Given the description of an element on the screen output the (x, y) to click on. 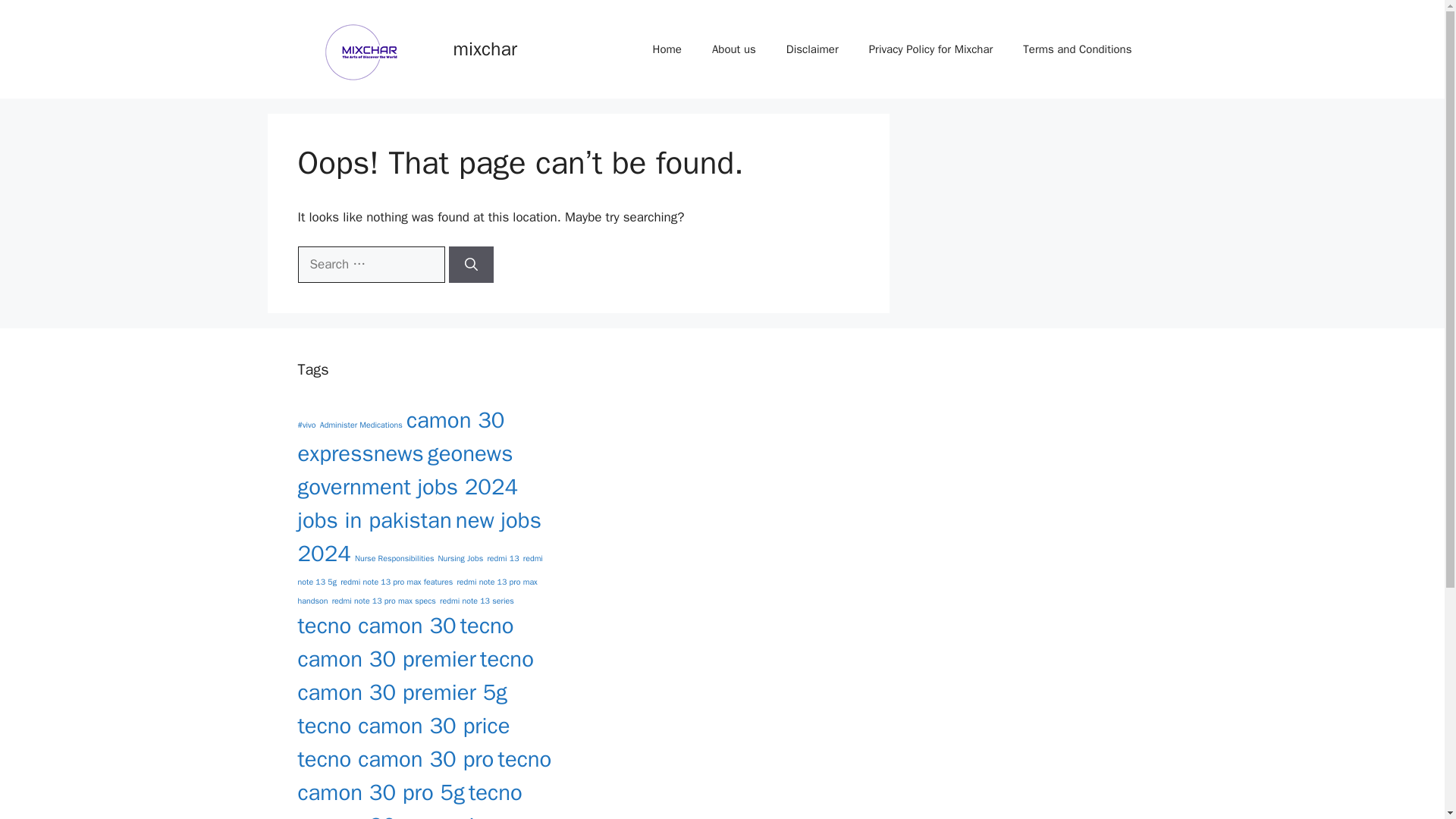
Search for: (370, 264)
jobs in pakistan (374, 520)
tecno camon 30 pubg test (427, 815)
redmi note 13 pro max handson (417, 591)
tecno camon 30 premier 5g (414, 675)
Privacy Policy for Mixchar (931, 49)
tecno camon 30 price (403, 725)
camon 30 (455, 420)
redmi note 13 5g (419, 570)
redmi note 13 pro max features (396, 582)
